Given the description of an element on the screen output the (x, y) to click on. 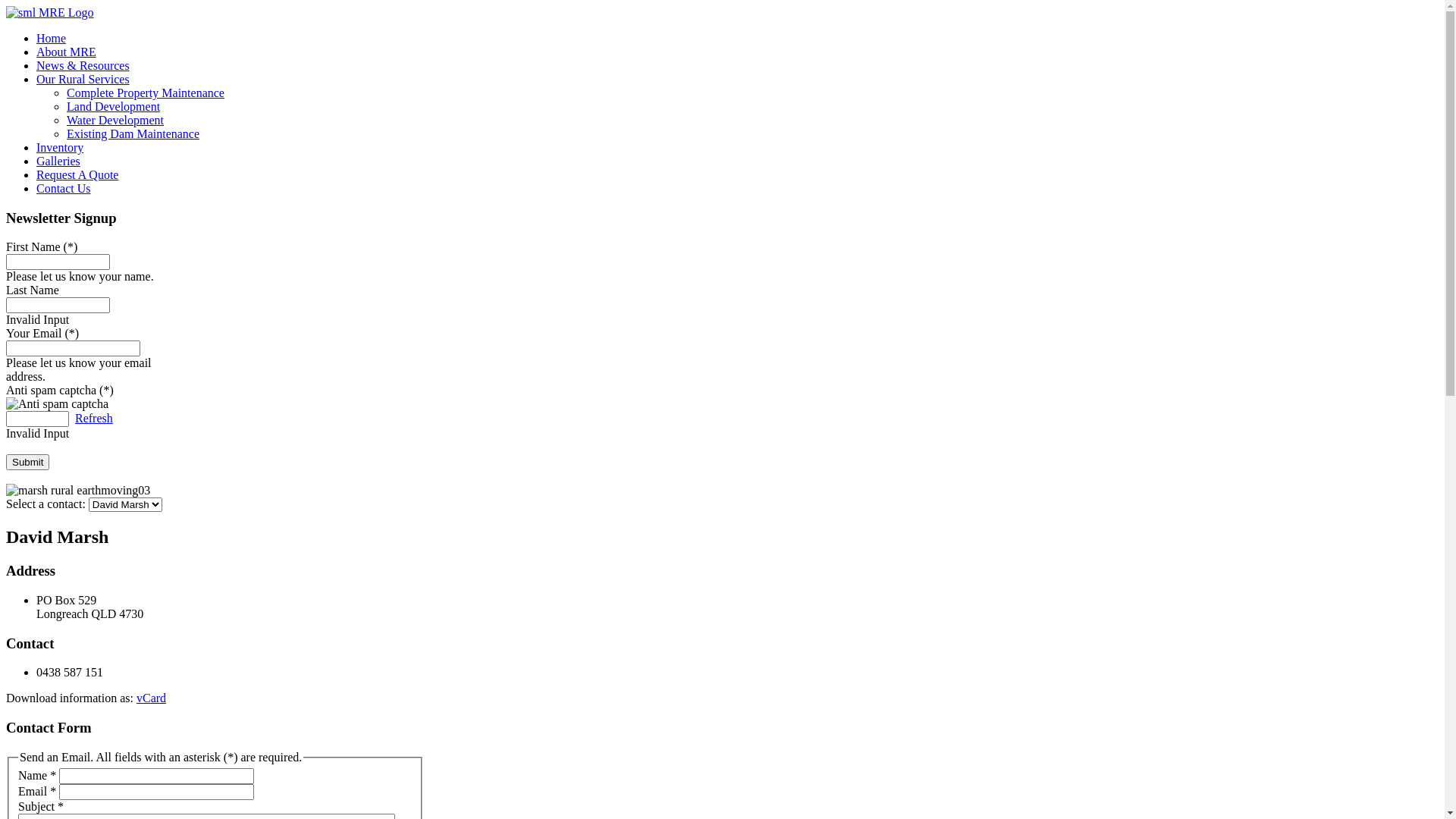
Refresh Element type: text (93, 417)
Galleries Element type: text (58, 160)
News & Resources Element type: text (82, 65)
Our Rural Services Element type: text (82, 78)
Existing Dam Maintenance Element type: text (132, 133)
Home Element type: text (50, 37)
About MRE Element type: text (66, 51)
Land Development Element type: text (113, 106)
Request A Quote Element type: text (77, 174)
vCard Element type: text (151, 697)
Complete Property Maintenance Element type: text (145, 92)
Water Development Element type: text (114, 119)
Inventory Element type: text (59, 147)
Contact Us Element type: text (63, 188)
Submit Element type: text (27, 462)
